Given the description of an element on the screen output the (x, y) to click on. 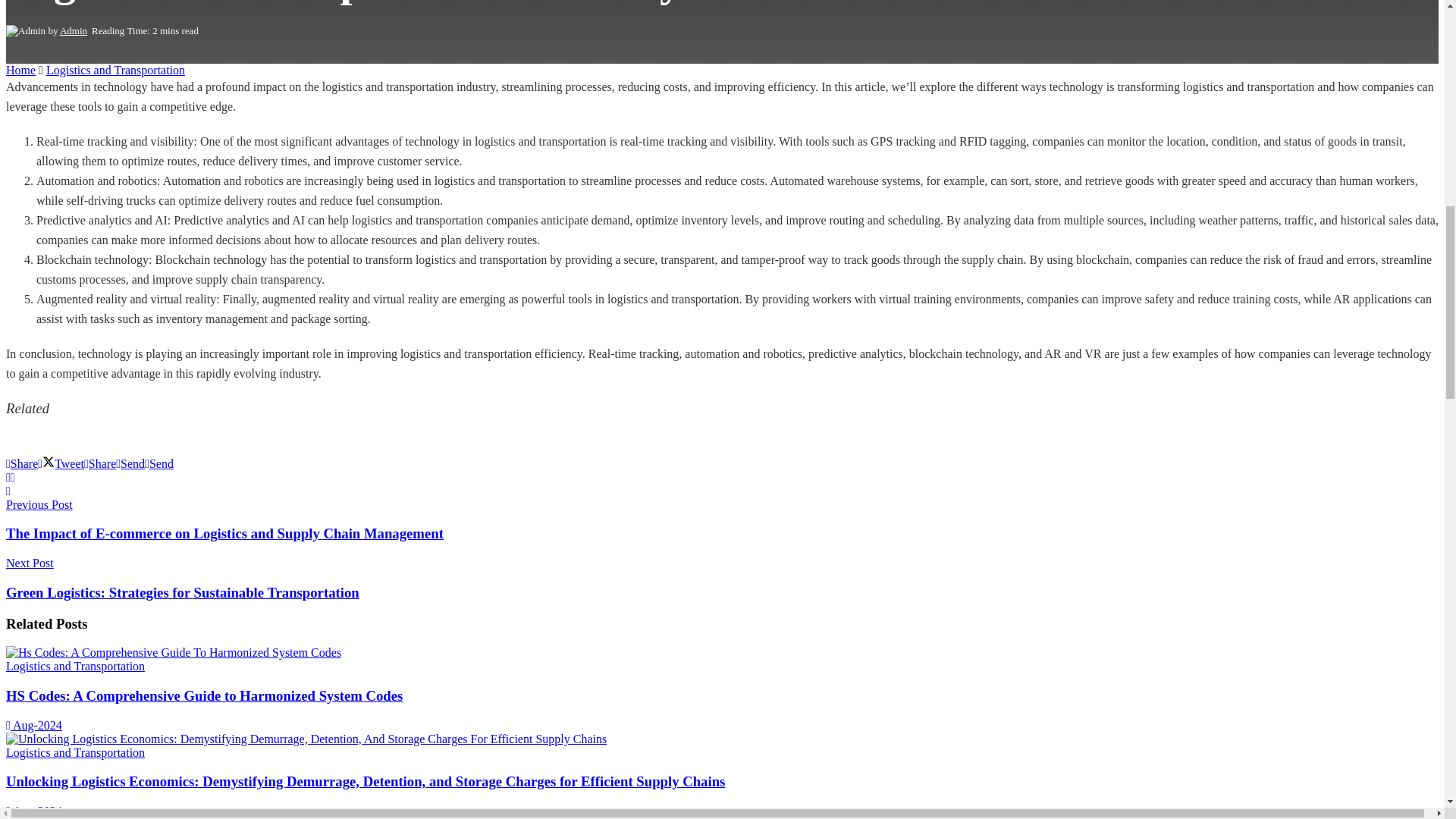
HS Codes: A Comprehensive Guide to Harmonized System Codes (204, 695)
Send (130, 463)
Logistics and Transportation (115, 69)
Send (158, 463)
Admin (73, 30)
Logistics and Transportation (74, 666)
Logistics and Transportation (74, 752)
Share (100, 463)
